Given the description of an element on the screen output the (x, y) to click on. 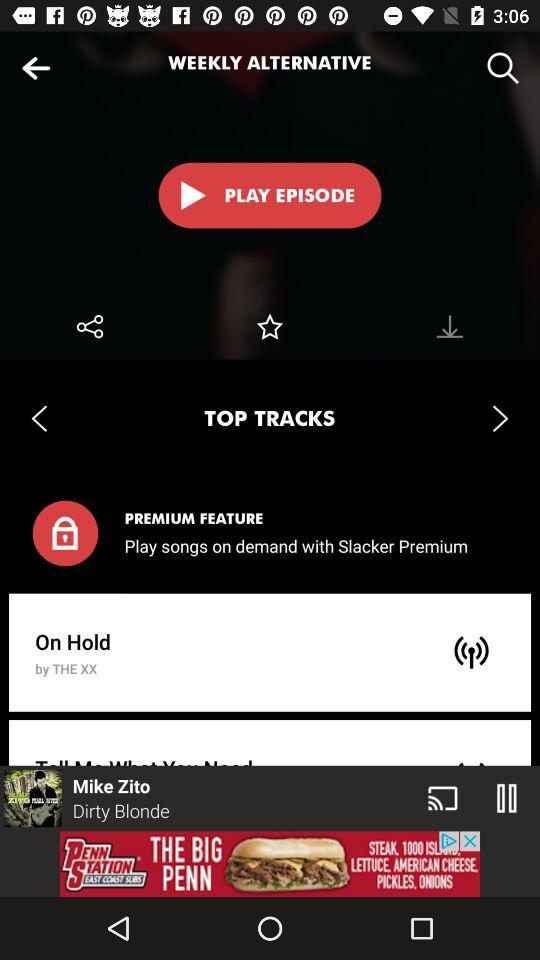
advertisement link (270, 864)
